Given the description of an element on the screen output the (x, y) to click on. 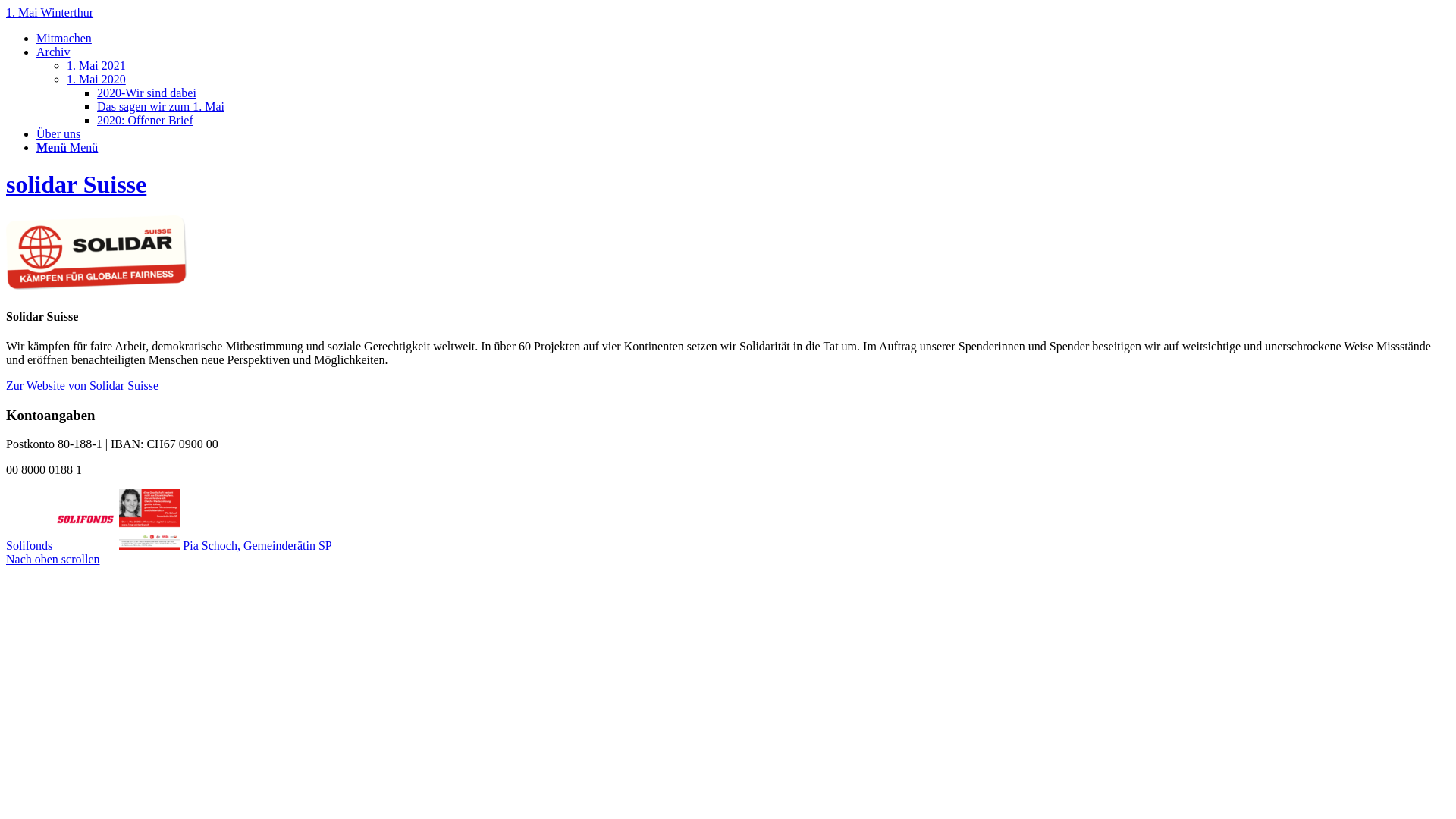
Archiv Element type: text (52, 51)
Solifonds Element type: text (62, 545)
Mitmachen Element type: text (63, 37)
2020: Offener Brief Element type: text (145, 119)
1. Mai 2021 Element type: text (95, 65)
solidar Suisse Element type: text (76, 183)
2020-Wir sind dabei Element type: text (146, 92)
1. Mai 2020 Element type: text (95, 78)
Zur Website von Solidar Suisse Element type: text (82, 385)
1. Mai Winterthur Element type: text (49, 12)
Das sagen wir zum 1. Mai Element type: text (160, 106)
Nach oben scrollen Element type: text (53, 558)
